Given the description of an element on the screen output the (x, y) to click on. 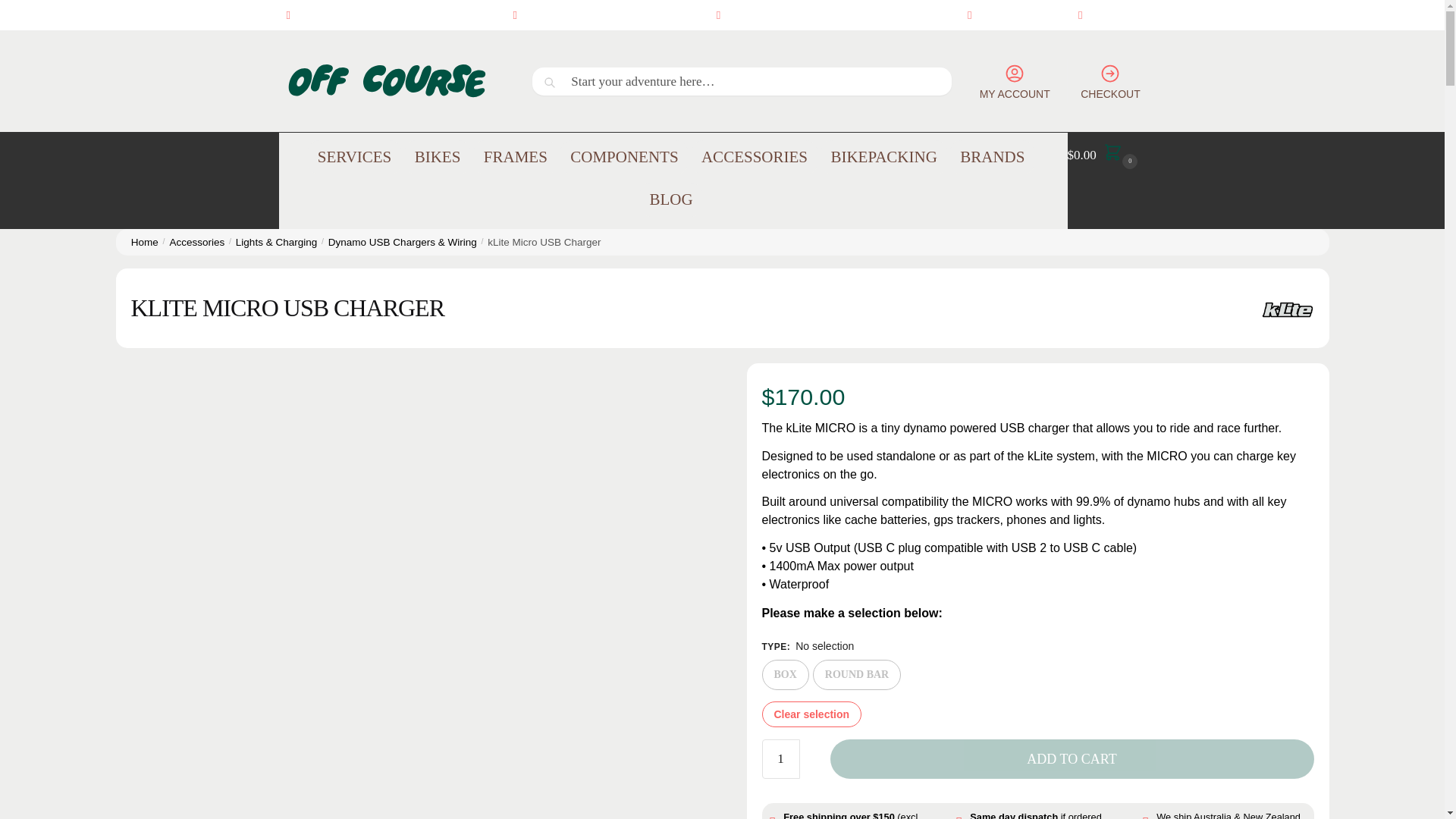
SHIPPING INFO (1010, 15)
Box (784, 675)
BIKES (437, 157)
Search (567, 85)
CONTACT US (1115, 15)
SERVICES (354, 157)
Search (567, 85)
MY ACCOUNT (1014, 80)
14 PRENTICE STREET, BRUNSWICK VIC (392, 15)
MON-FRI 9AM-5PM, SAT 10AM-4PM (607, 15)
